Given the description of an element on the screen output the (x, y) to click on. 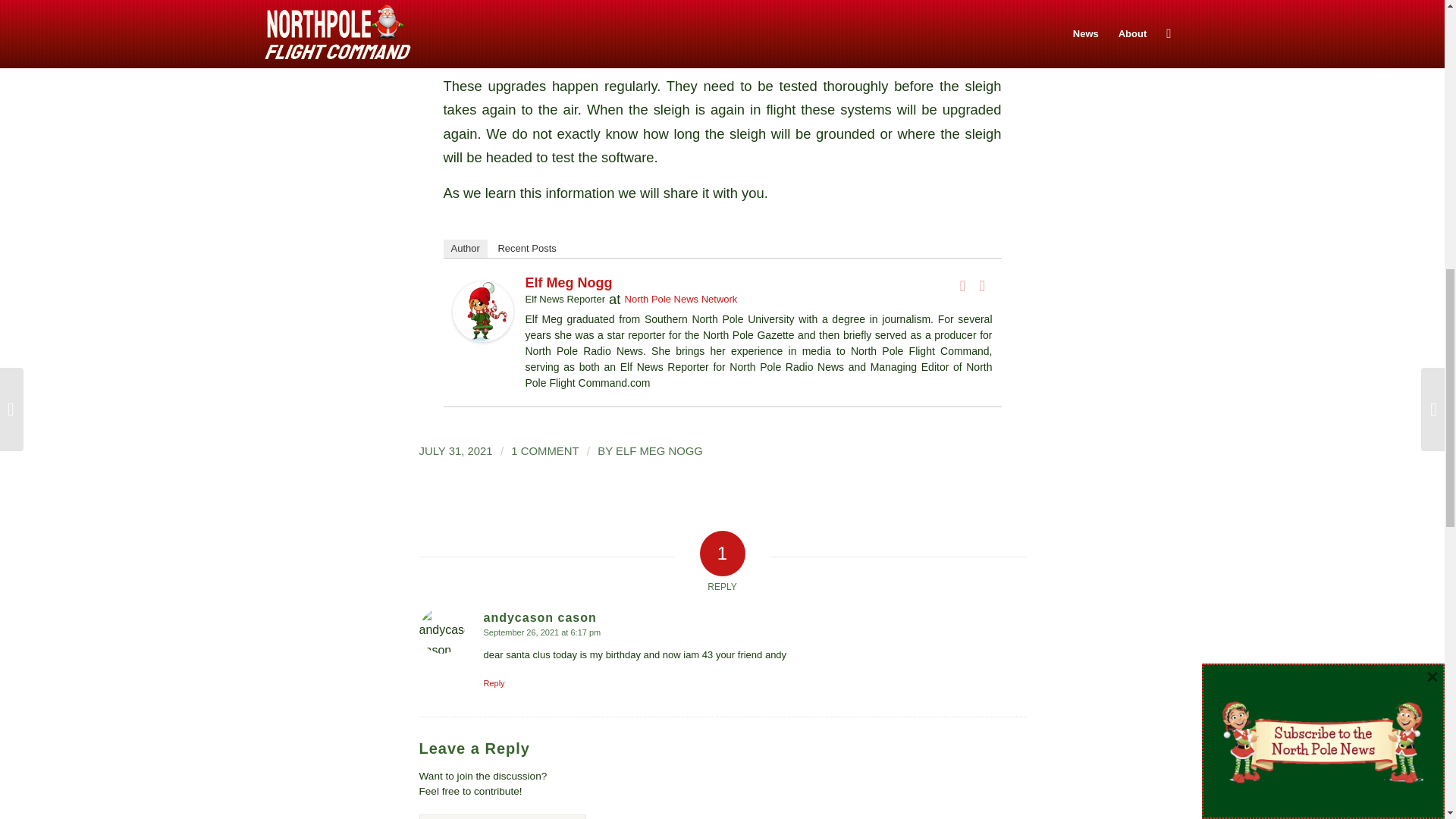
Elf Meg Nogg (481, 336)
September 26, 2021 at 6:17 pm (542, 632)
Reply (494, 682)
Author (464, 248)
Facebook (962, 285)
ELF MEG NOGG (659, 451)
Posts by Elf Meg Nogg (659, 451)
Elf Meg Nogg (567, 282)
North Pole News Network (681, 298)
1 COMMENT (544, 451)
Recent Posts (526, 248)
Twitter (982, 285)
